Given the description of an element on the screen output the (x, y) to click on. 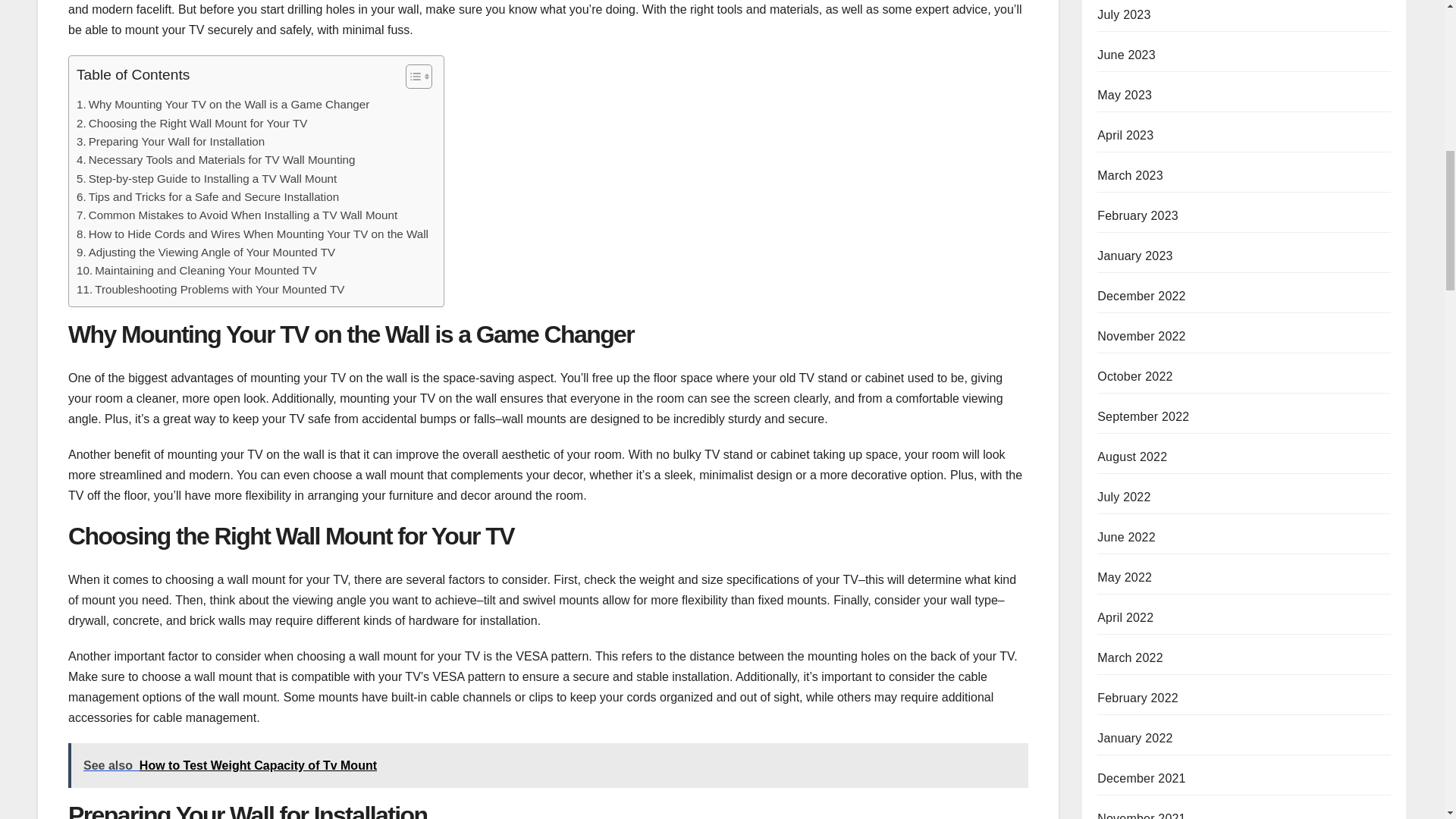
Common Mistakes to Avoid When Installing a TV Wall Mount (237, 215)
Tips and Tricks for a Safe and Secure Installation (208, 197)
Preparing Your Wall for Installation (170, 141)
Tips and Tricks for a Safe and Secure Installation (208, 197)
Step-by-step Guide to Installing a TV Wall Mount (206, 178)
Troubleshooting Problems with Your Mounted TV (210, 289)
Necessary Tools and Materials for TV Wall Mounting (216, 159)
Why Mounting Your TV on the Wall is a Game Changer (223, 104)
Choosing the Right Wall Mount for Your TV (192, 123)
